Given the description of an element on the screen output the (x, y) to click on. 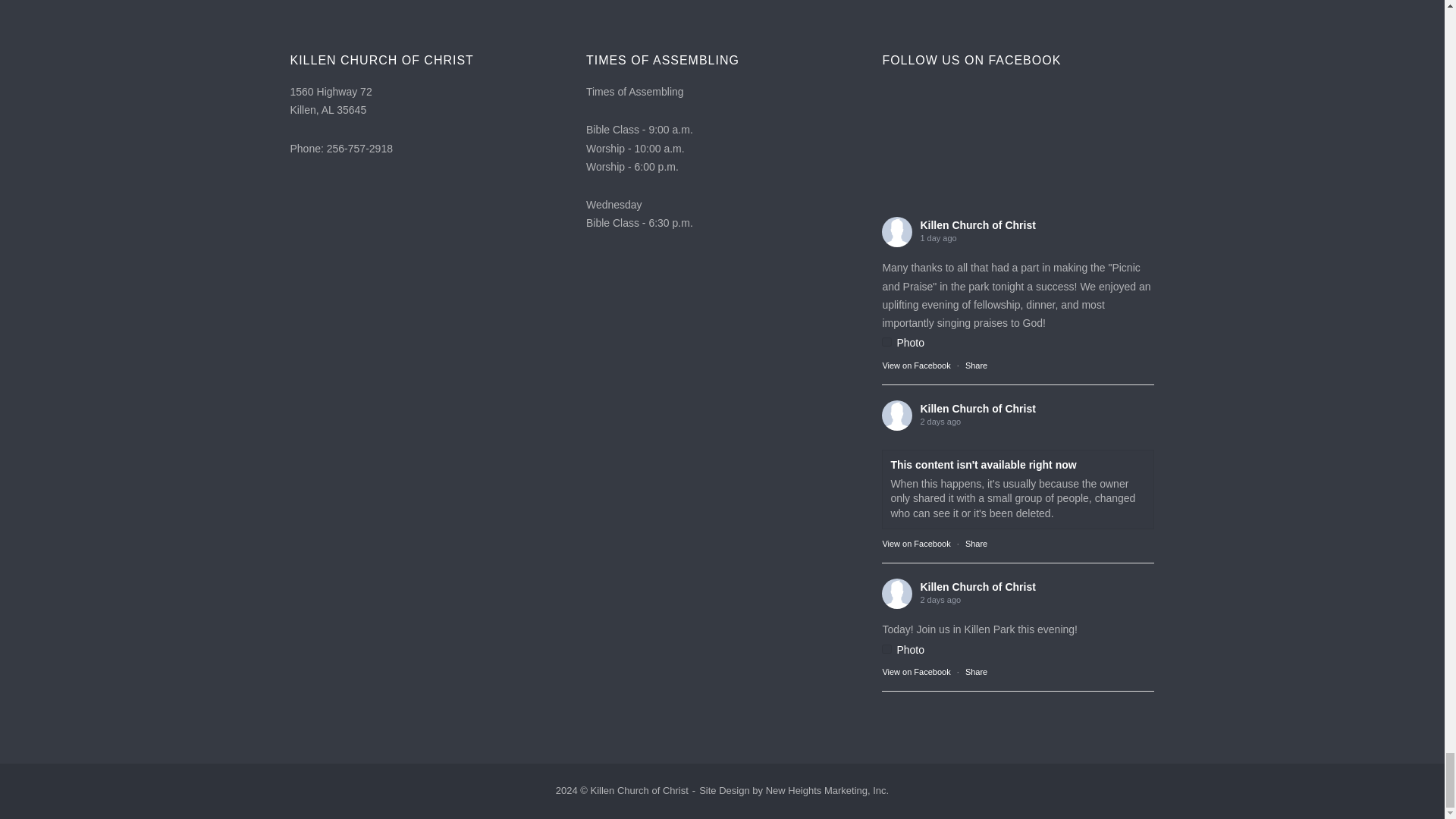
Share (976, 671)
Share (976, 365)
Share (976, 365)
Photo (903, 342)
View on Facebook (916, 671)
Share (976, 542)
View on Facebook (916, 365)
Killen Church of Christ (977, 224)
View on Facebook (916, 542)
View on Facebook (916, 365)
Likebox Iframe (1018, 154)
